Given the description of an element on the screen output the (x, y) to click on. 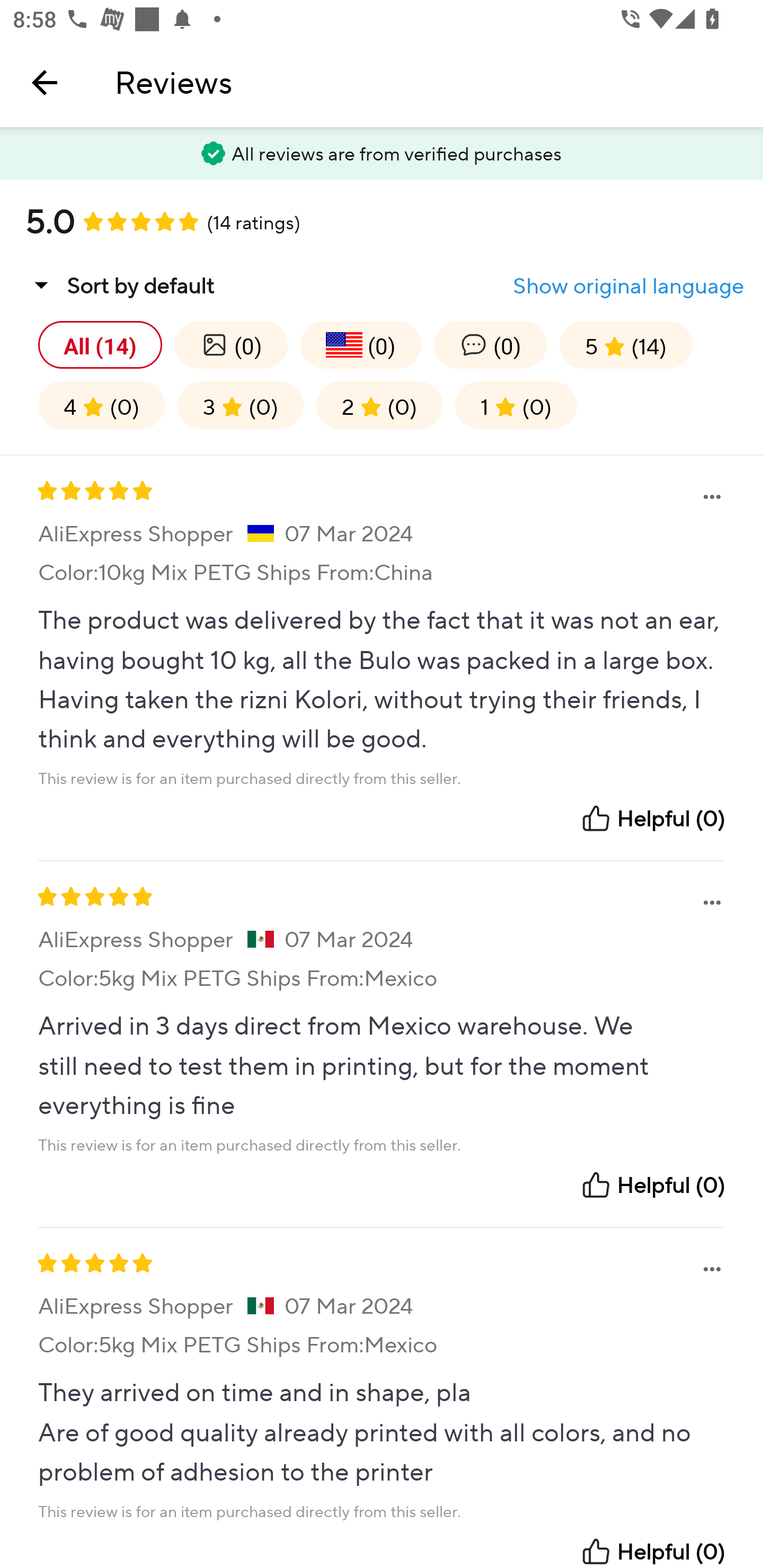
Navigate up (44, 82)
Sort by default (119, 285)
Show original language (627, 285)
All (14) (99, 344)
 (0) (230, 344)
 (0) (360, 344)
 (0) (490, 344)
5 (14) (625, 344)
4 (0) (101, 405)
3 (0) (240, 405)
2 (0) (379, 405)
1 (0) (515, 405)
Helpful (0) (651, 818)
Helpful (0) (651, 1185)
Helpful (0) (651, 1551)
